Given the description of an element on the screen output the (x, y) to click on. 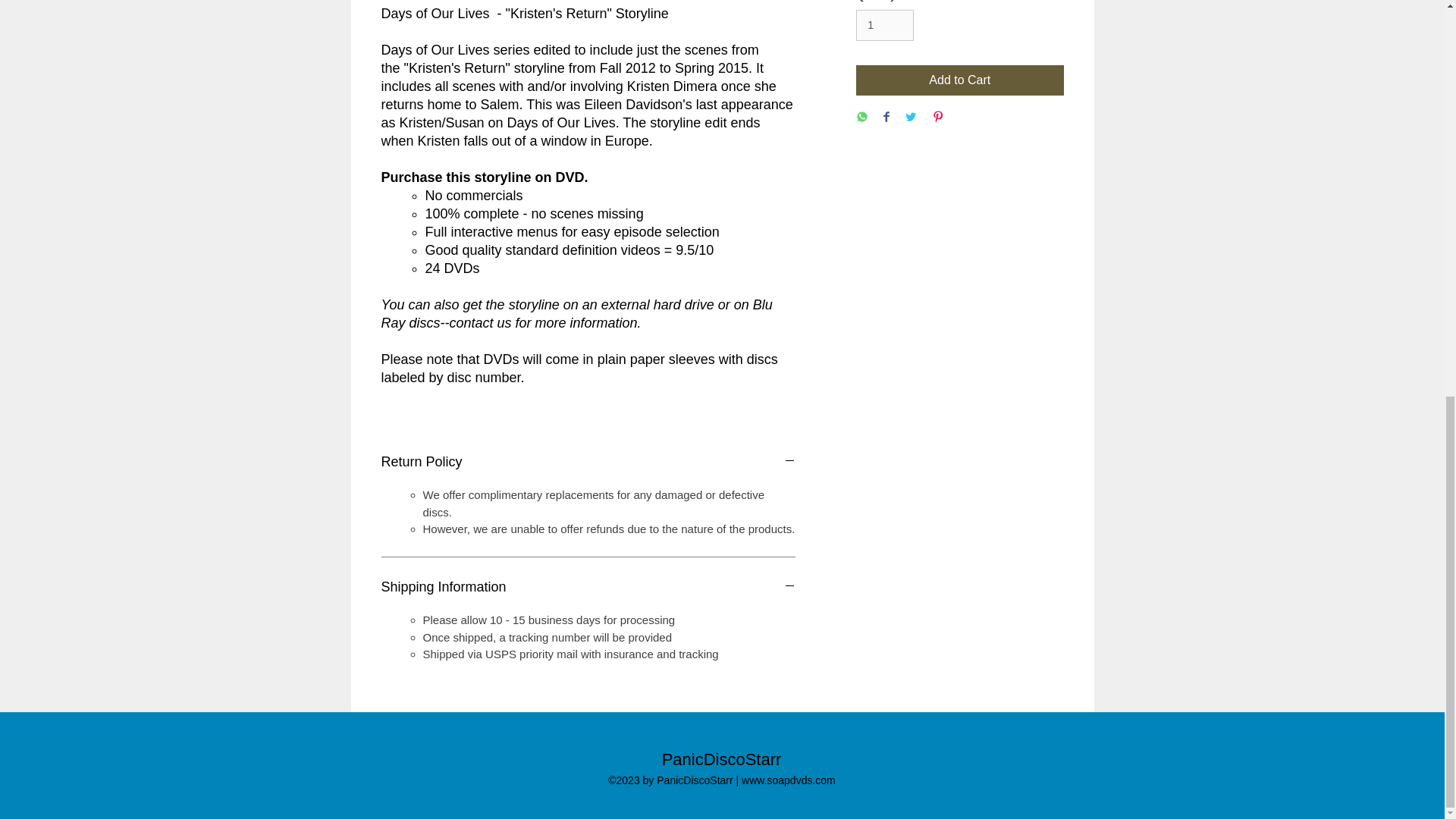
Add to Cart (959, 80)
Shipping Information (587, 587)
1 (885, 24)
PanicDiscoStarr (721, 759)
Return Policy (587, 462)
www.soapdvds.com (788, 779)
